Given the description of an element on the screen output the (x, y) to click on. 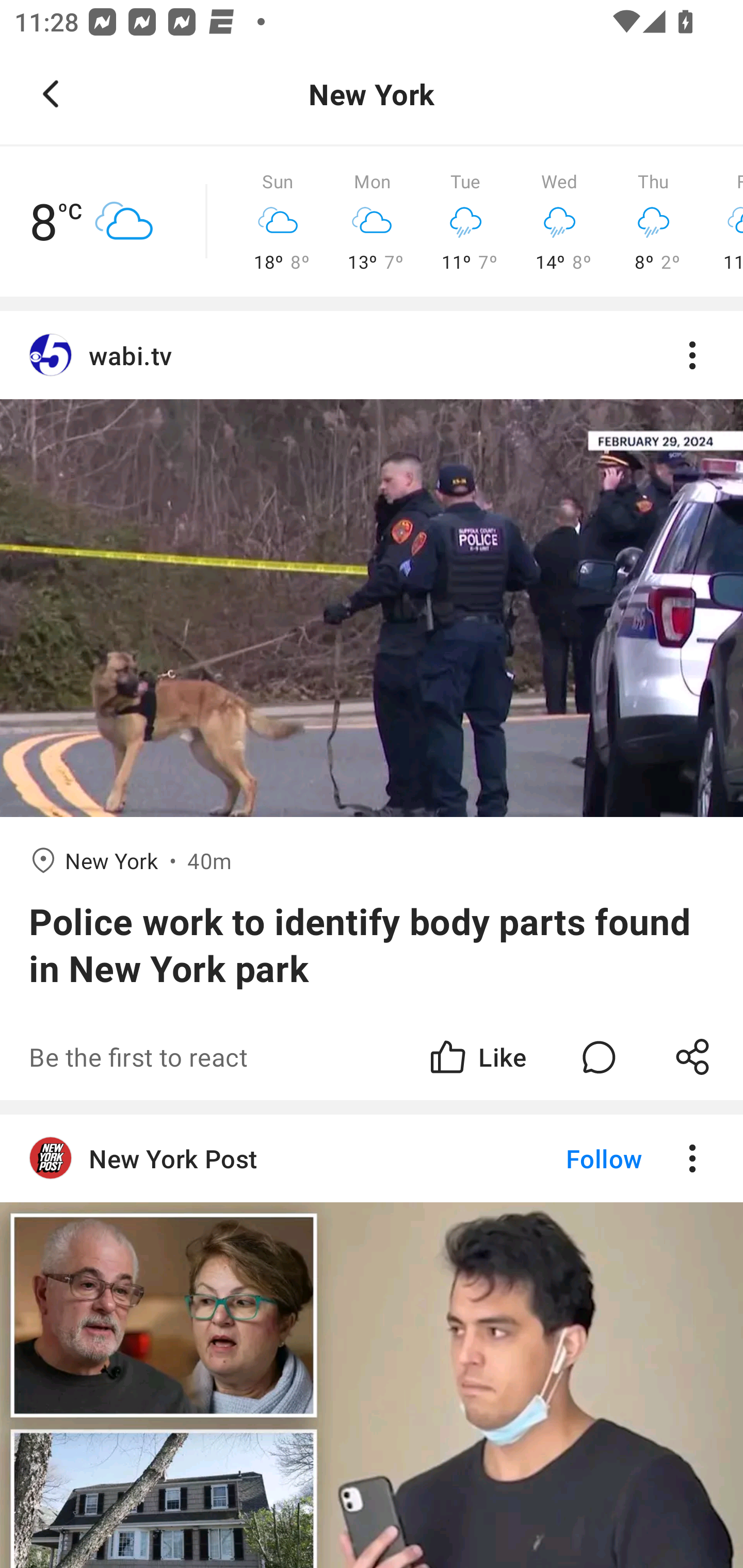
Navigate up (50, 93)
Sun 18º 8º (278, 221)
Mon 13º 7º (372, 221)
Tue 11º 7º (465, 221)
Wed 14º 8º (559, 221)
Thu 8º 2º (653, 221)
wabi.tv (371, 355)
Be the first to react (244, 1056)
Like (476, 1056)
New York Post Follow (371, 1341)
New York Post Follow (371, 1158)
Follow (569, 1158)
